Given the description of an element on the screen output the (x, y) to click on. 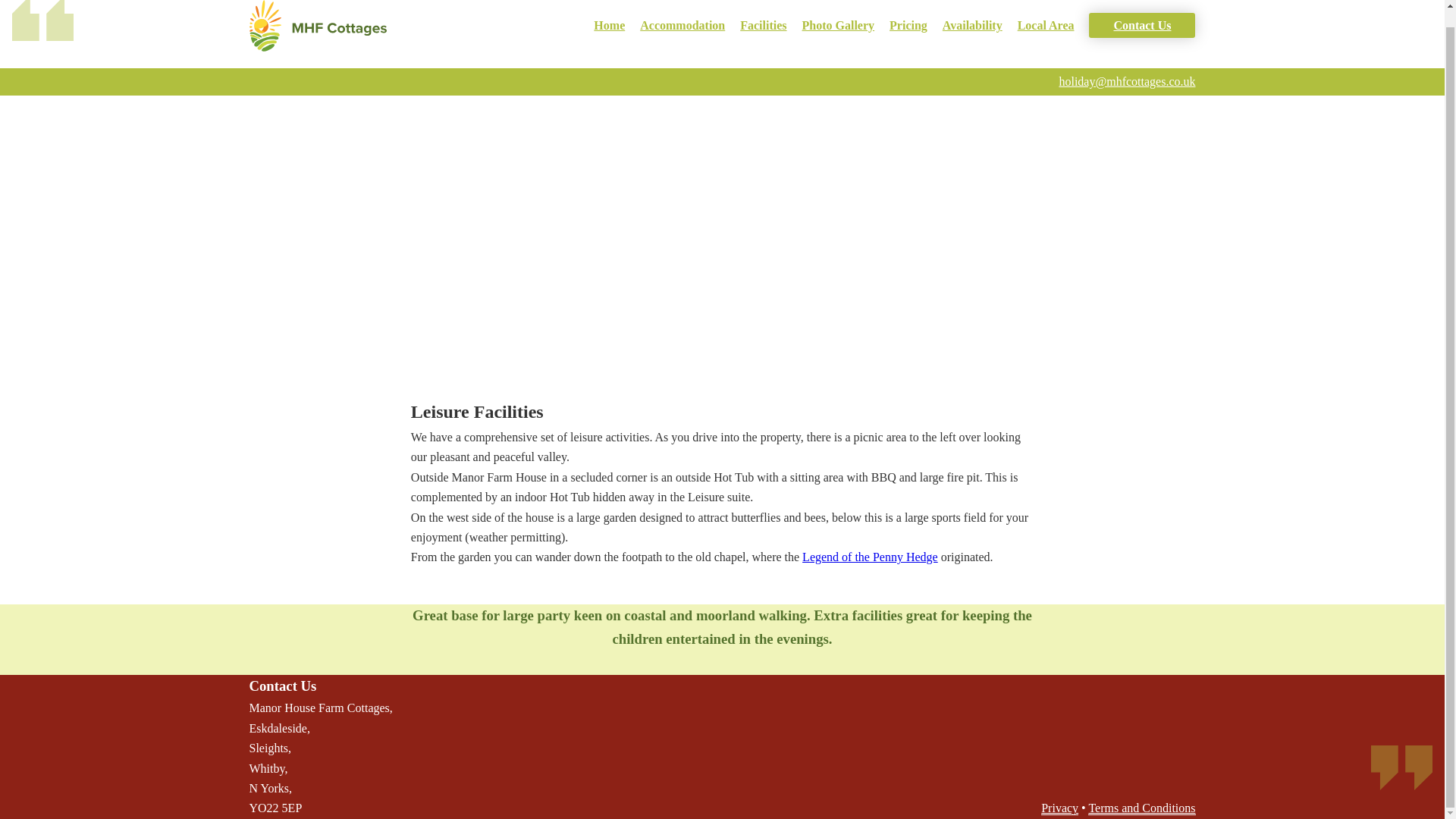
Legend of the Penny Hedge (869, 556)
Privacy (1059, 807)
Contact Us (1142, 25)
Terms and Conditions (1141, 807)
Facilities (762, 24)
Accommodation (682, 24)
Local Area (1045, 24)
Photo Gallery (838, 24)
Availability (972, 24)
Pricing (908, 24)
